Given the description of an element on the screen output the (x, y) to click on. 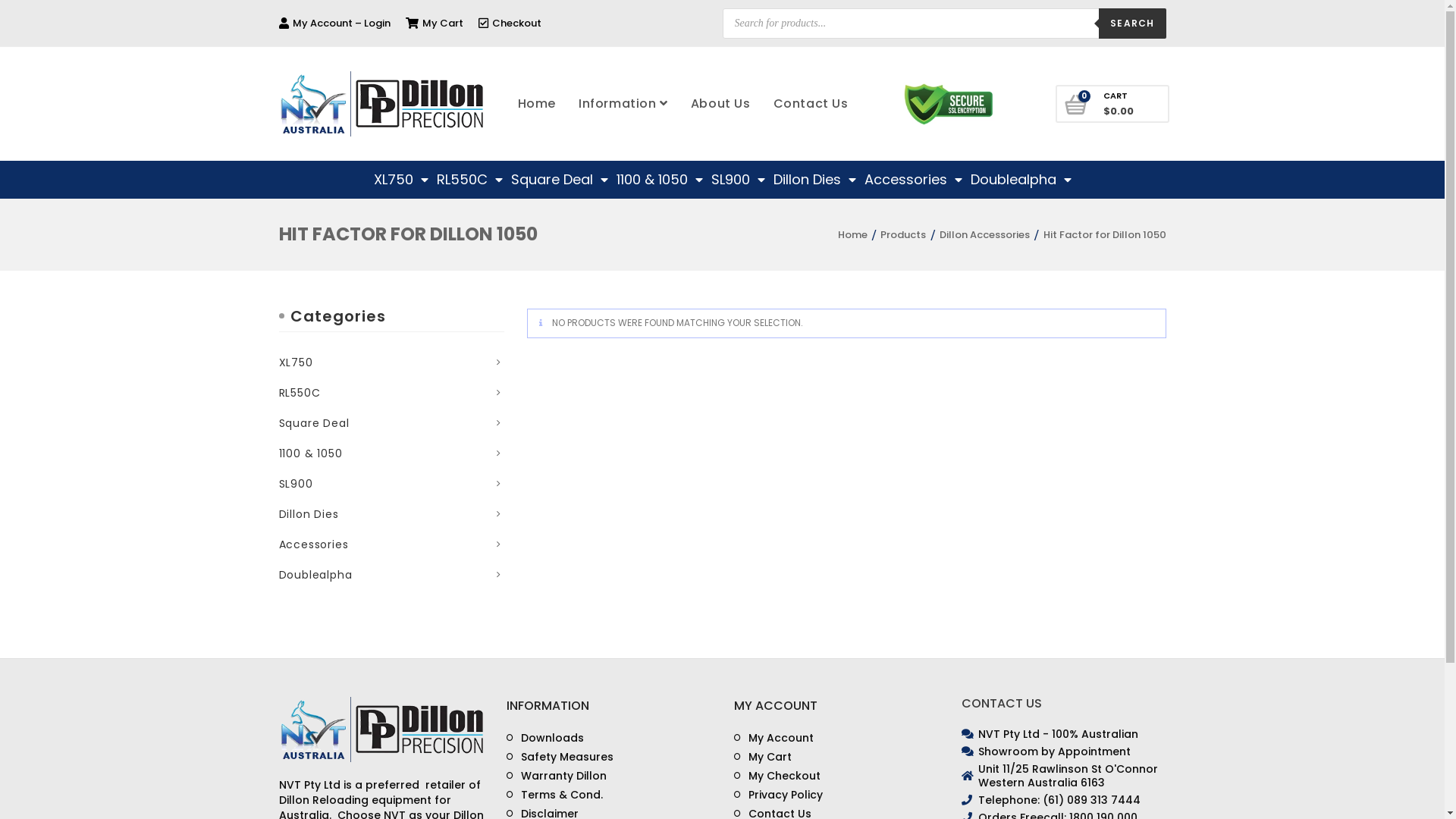
Home Element type: text (850, 234)
My Cart Element type: text (762, 757)
Contact Us Element type: text (810, 103)
Doublealpha Element type: text (1021, 179)
Privacy Policy Element type: text (778, 795)
Information Element type: text (623, 103)
Square Deal Element type: text (559, 179)
Terms & Cond. Element type: text (554, 795)
SL900 Element type: text (737, 179)
My Checkout Element type: text (777, 776)
Warranty Dillon Element type: text (556, 776)
SL900 Element type: text (305, 483)
Square Deal Element type: text (323, 422)
Doublealpha Element type: text (325, 574)
Products Element type: text (902, 234)
Downloads Element type: text (544, 738)
Safety Measures Element type: text (559, 757)
RL550C Element type: text (469, 179)
Accessories Element type: text (912, 179)
XL750 Element type: text (400, 179)
0 Element type: text (1076, 105)
SEARCH Element type: text (1131, 22)
XL750 Element type: text (305, 362)
Dillon Accessories Element type: text (984, 234)
My Cart Element type: text (433, 23)
Dillon Dies Element type: text (814, 179)
Home Element type: text (536, 103)
Dillon Dies Element type: text (318, 513)
My Account Element type: text (773, 738)
RL550C Element type: text (309, 392)
About Us Element type: text (720, 103)
Checkout Element type: text (509, 23)
Accessories Element type: text (323, 544)
1100 & 1050 Element type: text (320, 453)
Hit Factor for Dillon 1050 Element type: text (1104, 234)
1100 & 1050 Element type: text (658, 179)
